Given the description of an element on the screen output the (x, y) to click on. 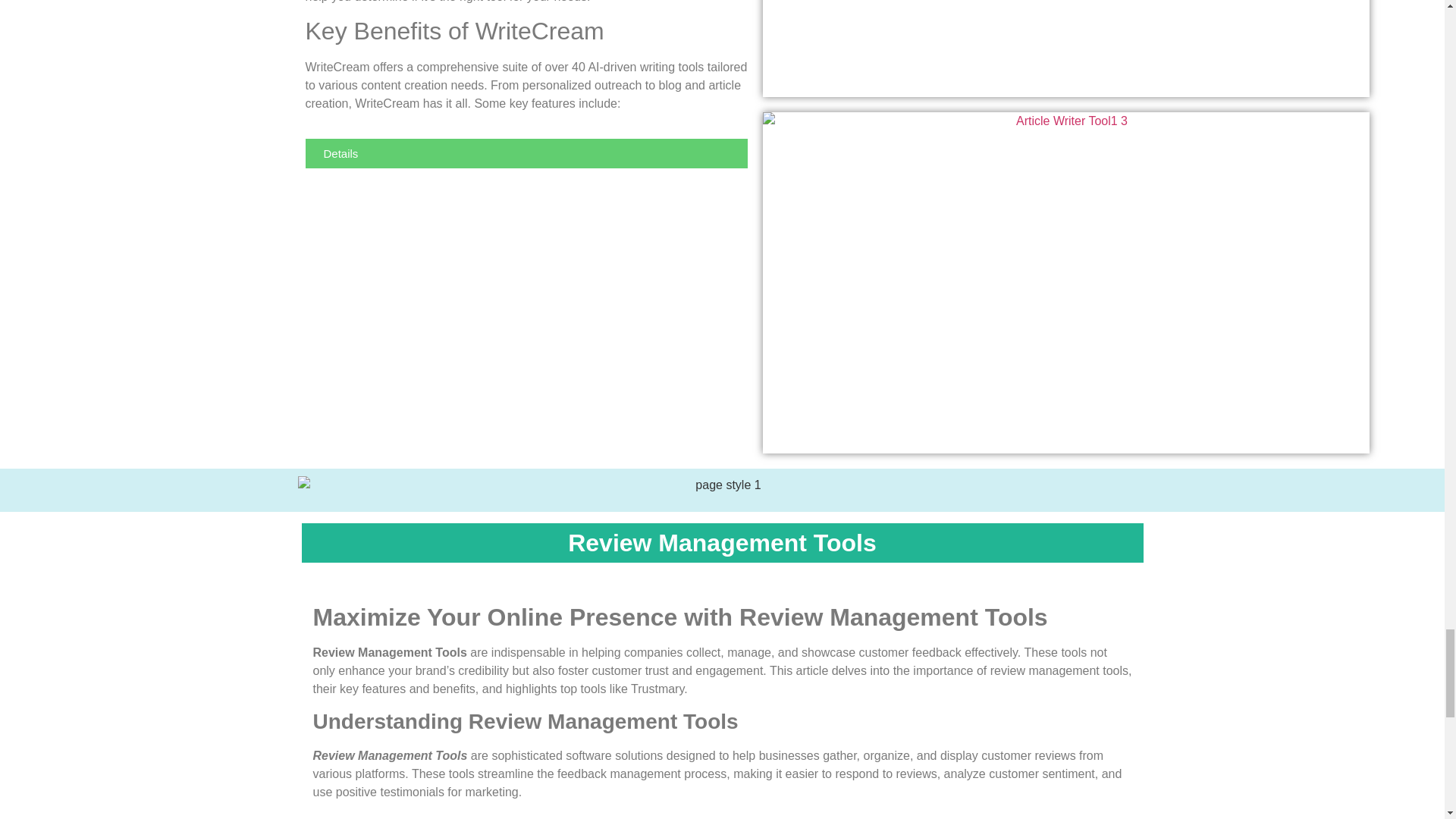
Neck Pillow for Neck Pain 11 (1066, 48)
